Given the description of an element on the screen output the (x, y) to click on. 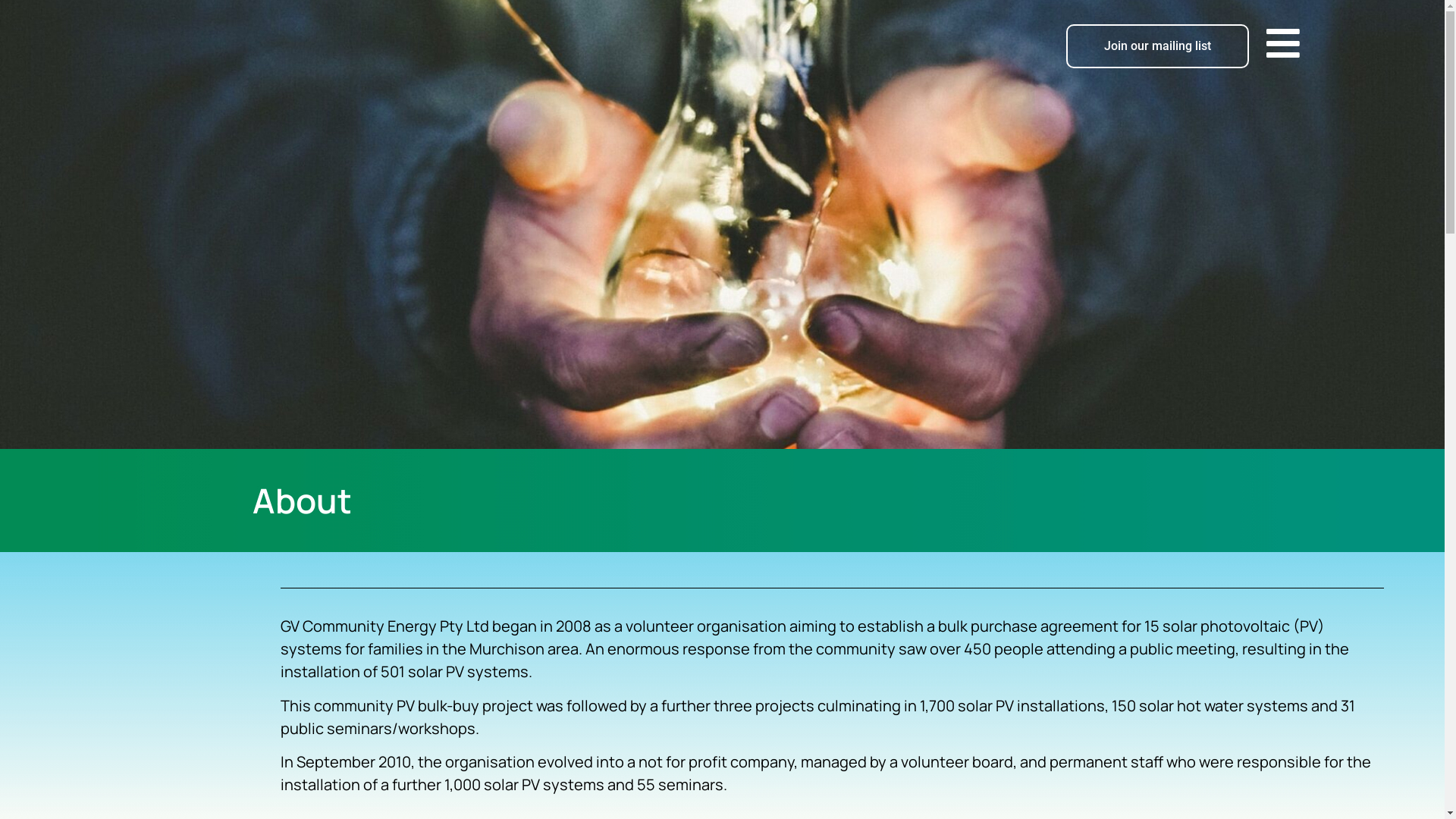
Join our mailing list Element type: text (1157, 46)
